Given the description of an element on the screen output the (x, y) to click on. 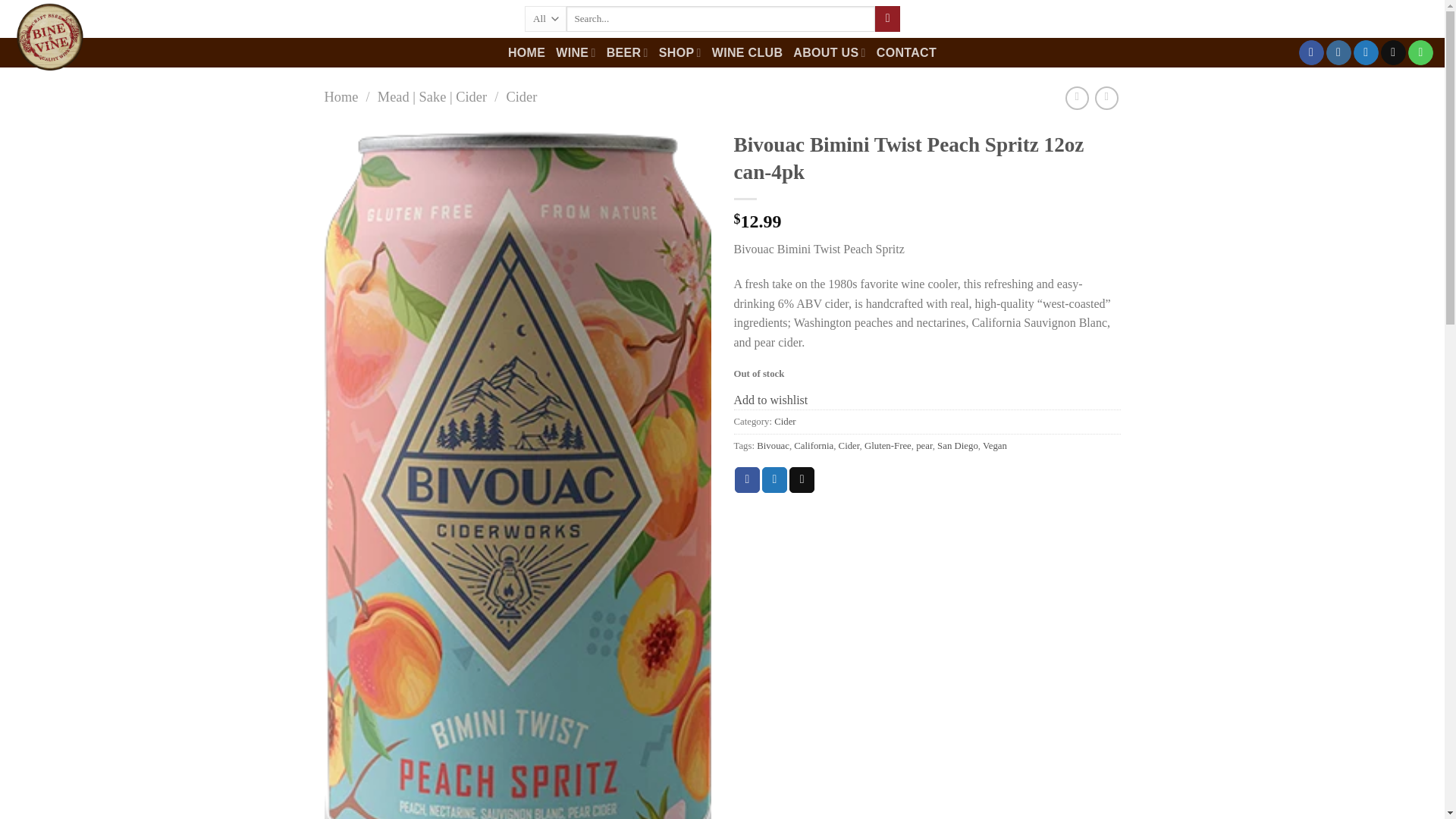
SHOP (680, 52)
Follow on Instagram (1338, 53)
Follow on Twitter (1366, 53)
Cart (1409, 19)
WINE (575, 52)
Share on Facebook (747, 479)
Search (887, 18)
Login (1318, 18)
Follow on Facebook (1310, 53)
CART (1409, 19)
HOME (526, 52)
Send us an email (1393, 53)
BEER (627, 52)
Call us (1419, 53)
